Given the description of an element on the screen output the (x, y) to click on. 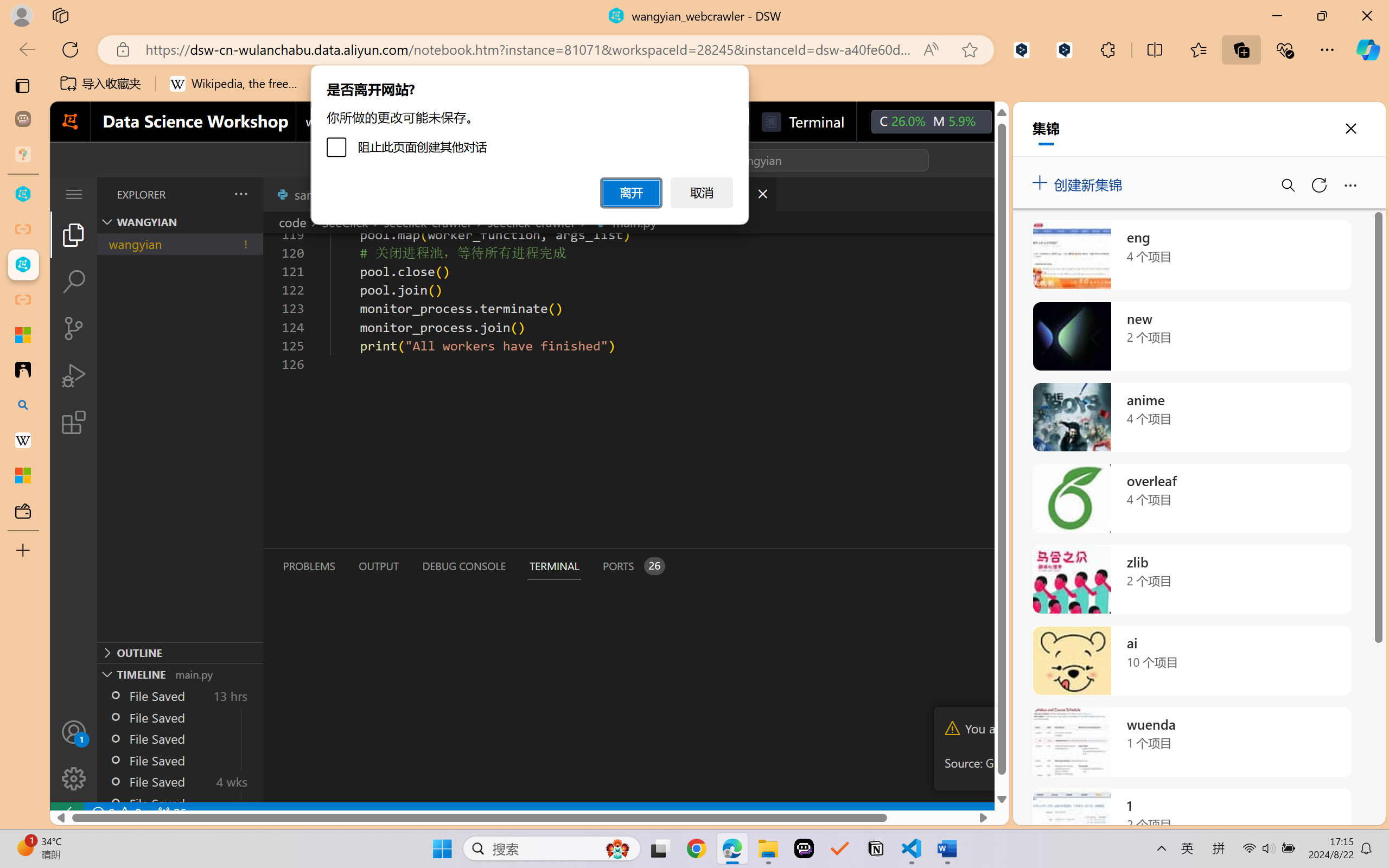
Adjust indents and spacing - Microsoft Support (22, 334)
Accounts - Sign in requested (73, 732)
Extensions (Ctrl+Shift+X) (73, 422)
